Given the description of an element on the screen output the (x, y) to click on. 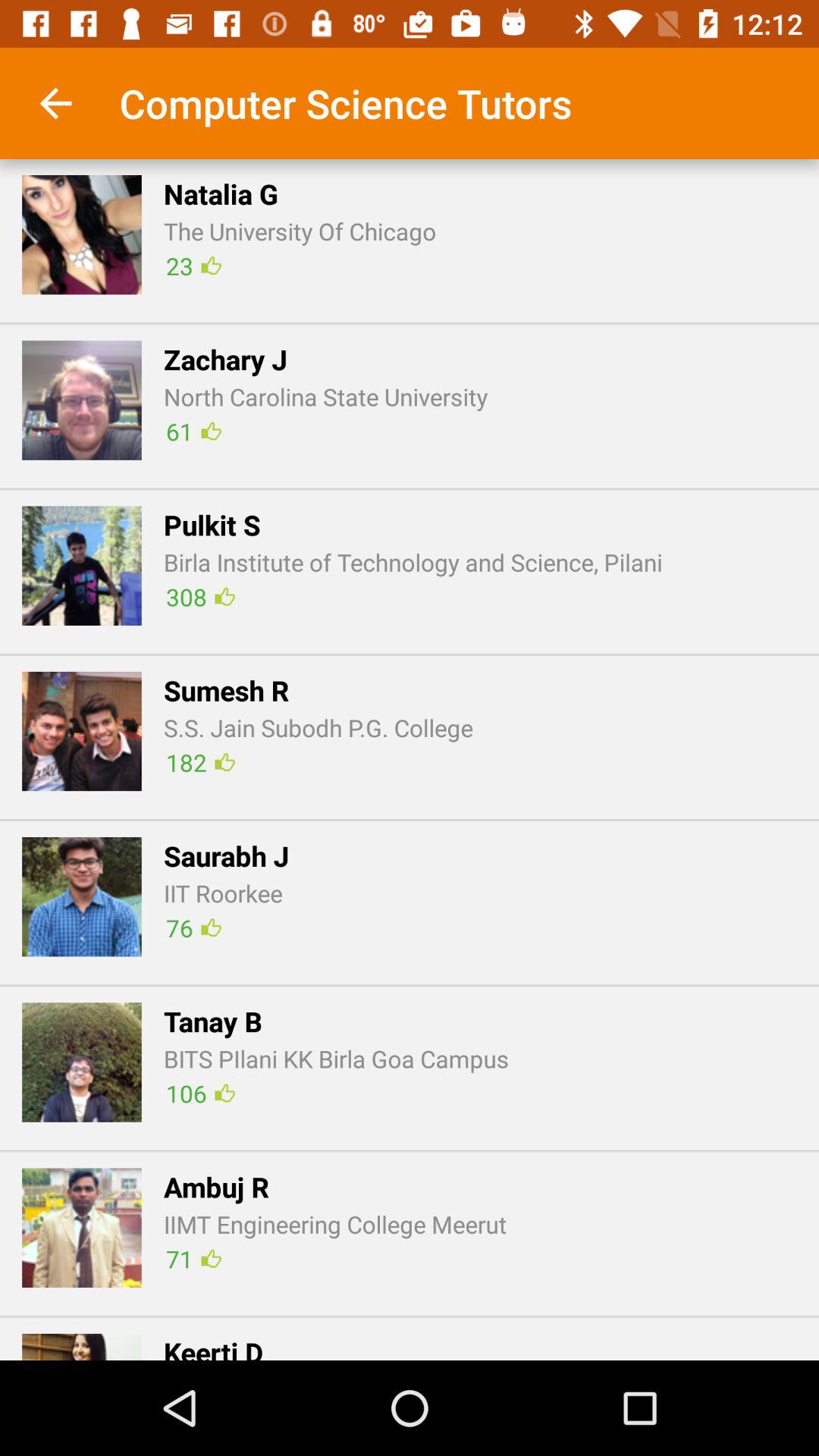
press item to the right of the z (193, 431)
